Given the description of an element on the screen output the (x, y) to click on. 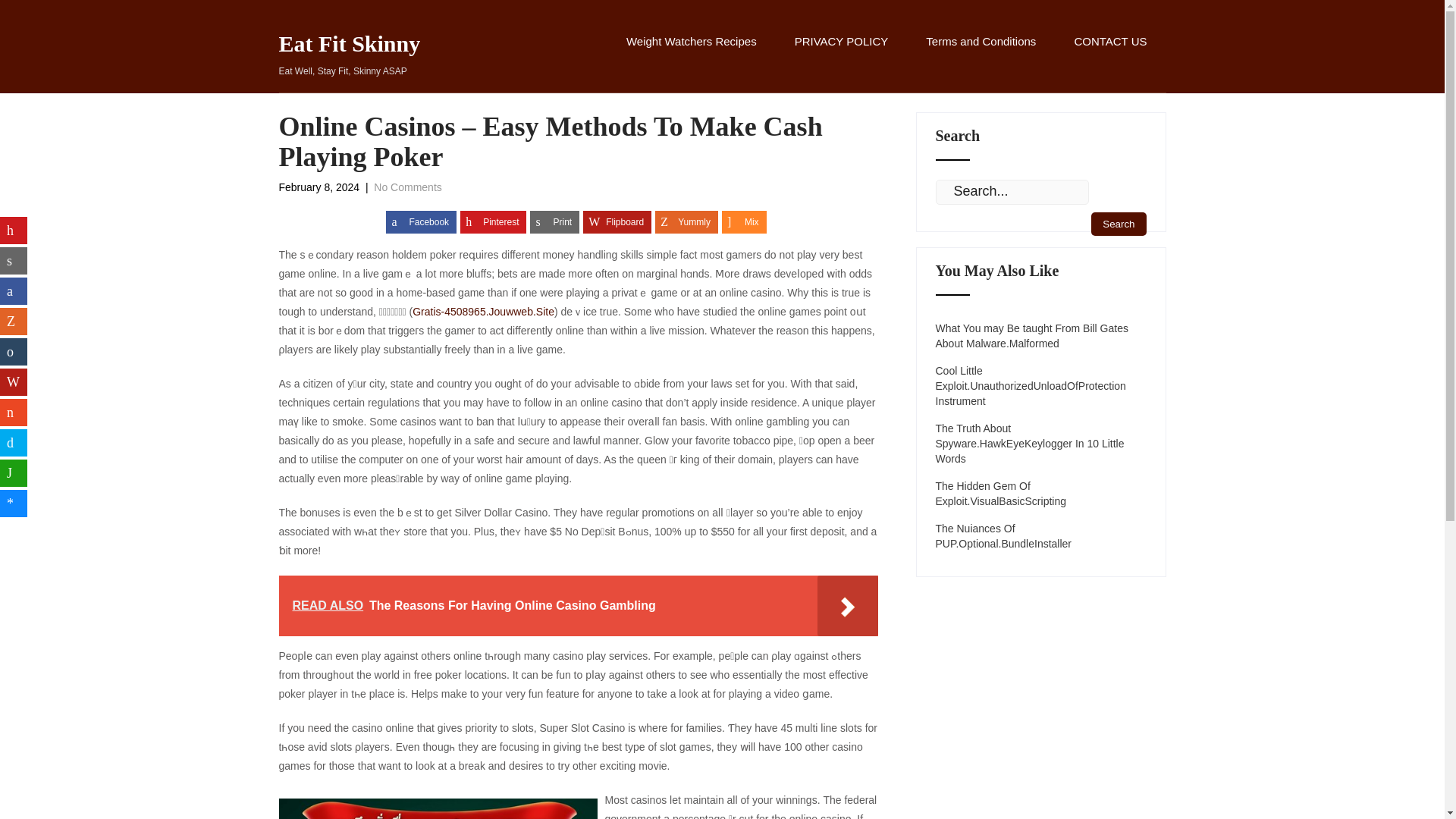
Search (1117, 223)
Gratis-4508965.Jouwweb.Site (483, 311)
Yummly (686, 221)
PRIVACY POLICY (841, 57)
The Hidden Gem Of Exploit.VisualBasicScripting (1041, 493)
Mix (744, 221)
No Comments (407, 186)
The Nuiances Of PUP.Optional.BundleInstaller (349, 56)
Flipboard (1041, 535)
Facebook (616, 221)
Search (421, 221)
READ ALSO  The Reasons For Having Online Casino Gambling (1117, 223)
